Given the description of an element on the screen output the (x, y) to click on. 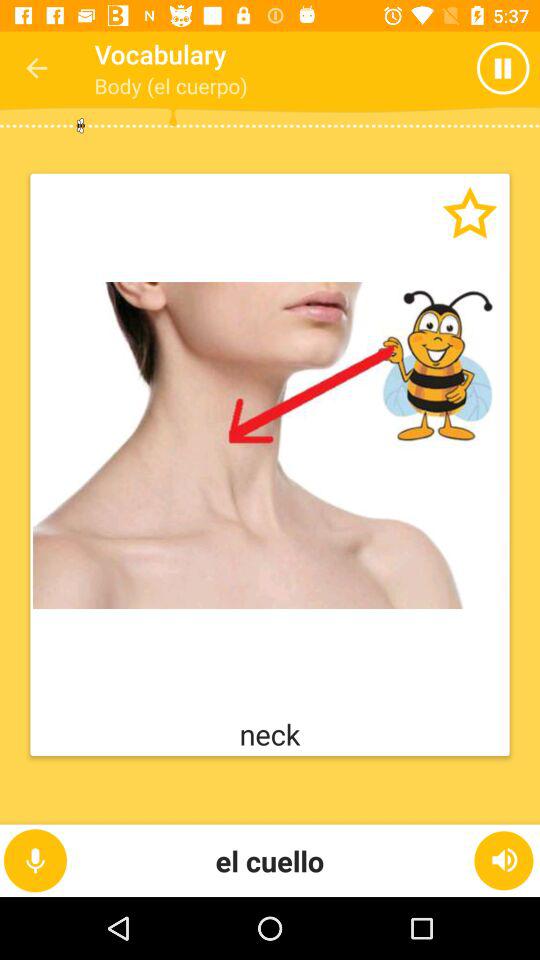
turn on the item above the neck icon (270, 445)
